Given the description of an element on the screen output the (x, y) to click on. 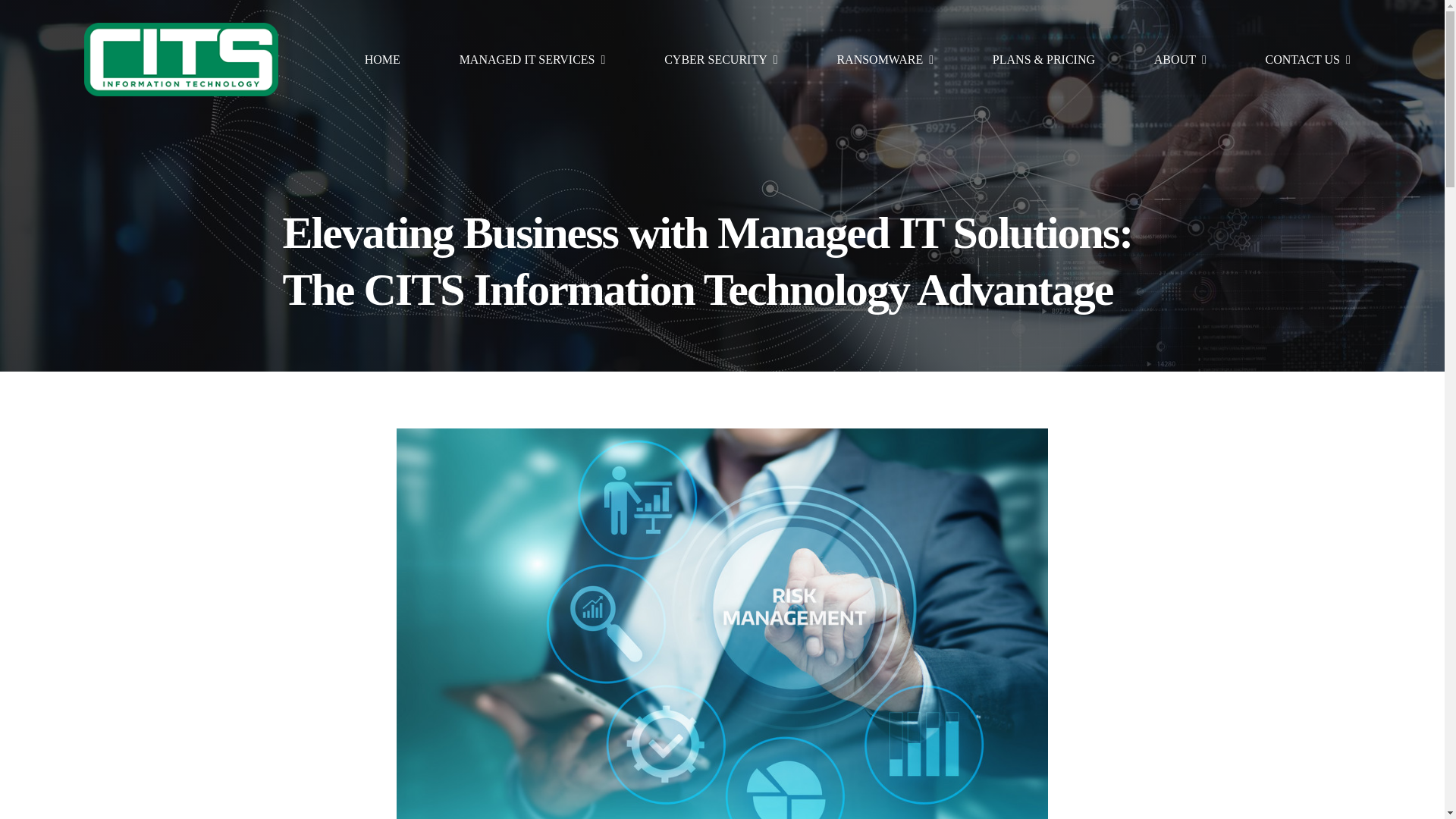
MANAGED IT SERVICES (532, 60)
CYBER SECURITY (720, 60)
RANSOMWARE (884, 60)
CONTACT US (1308, 60)
ABOUT (1180, 60)
